Given the description of an element on the screen output the (x, y) to click on. 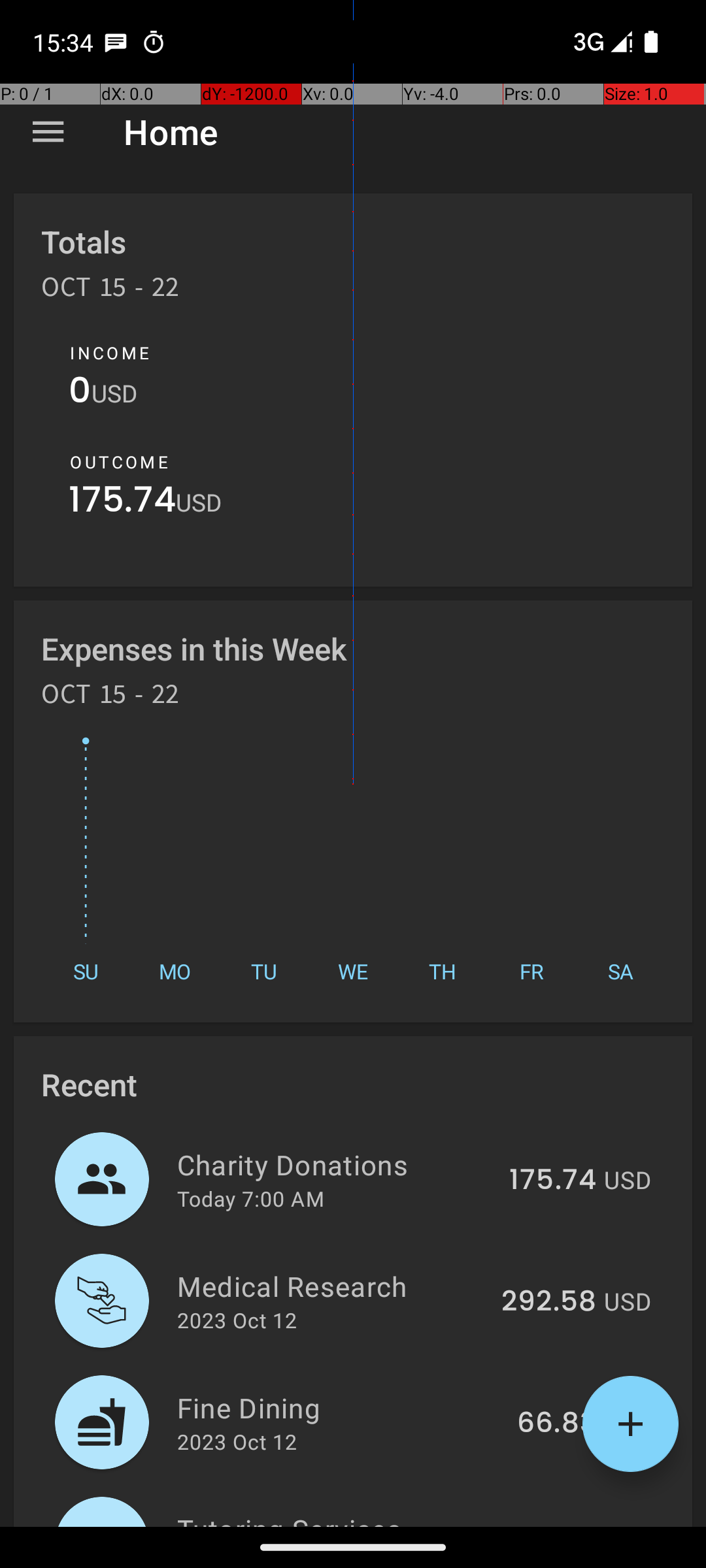
175.74 Element type: android.widget.TextView (121, 502)
Today 7:00 AM Element type: android.widget.TextView (250, 1198)
Medical Research Element type: android.widget.TextView (331, 1285)
292.58 Element type: android.widget.TextView (548, 1301)
66.83 Element type: android.widget.TextView (556, 1423)
Tutoring Services Element type: android.widget.TextView (344, 1518)
67.71 Element type: android.widget.TextView (561, 1524)
